Given the description of an element on the screen output the (x, y) to click on. 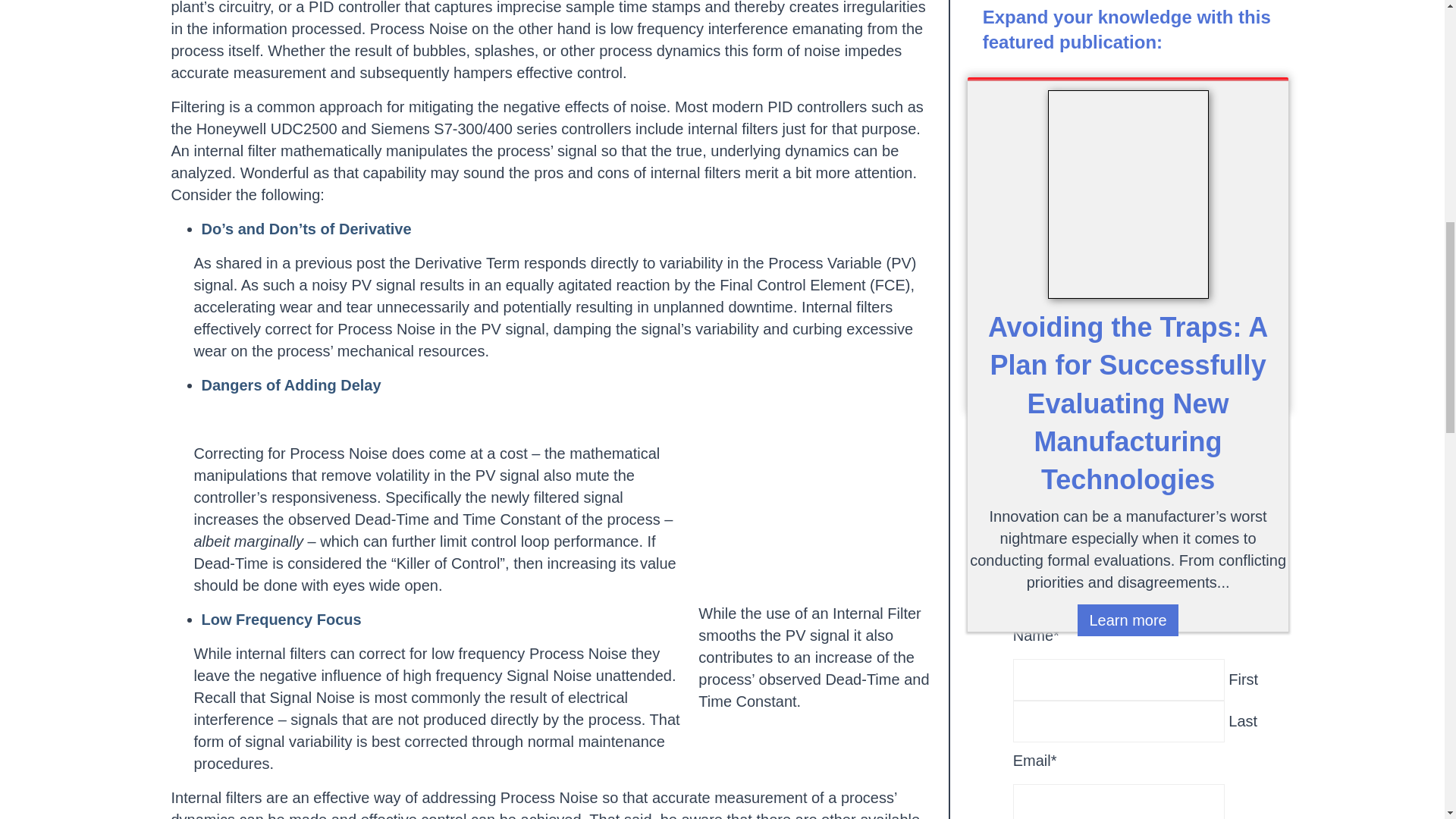
Honeywell UDC2500 (266, 128)
